Given the description of an element on the screen output the (x, y) to click on. 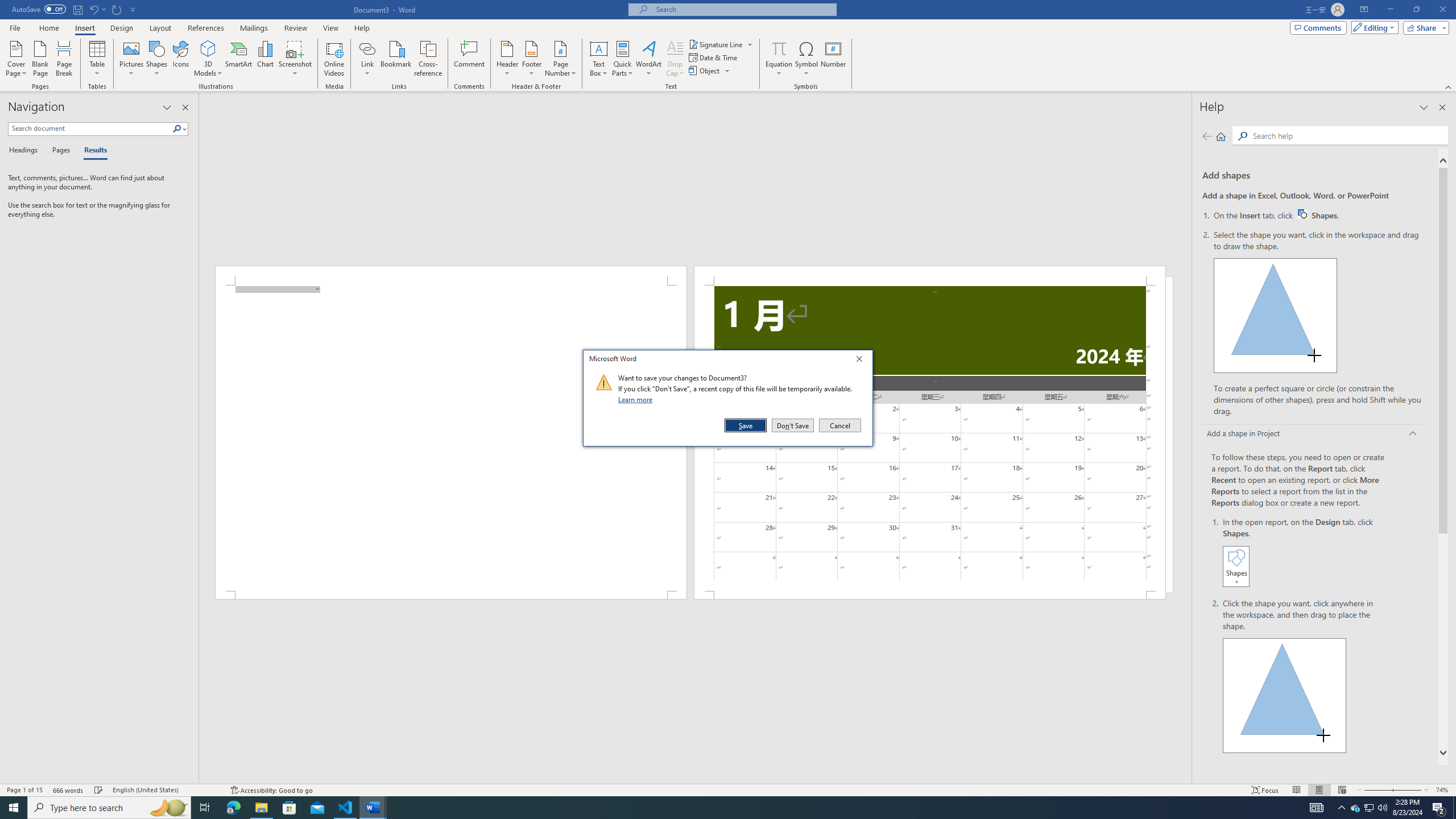
Task View (204, 807)
In the open report, on the Design tab, click Shapes. (1304, 552)
Date & Time... (714, 56)
Undo New Page (96, 9)
3D Models (208, 58)
Visual Studio Code - 1 running window (345, 807)
Footer (531, 58)
Link (367, 58)
Notification Chevron (1341, 807)
Repeat Doc Close (117, 9)
